Given the description of an element on the screen output the (x, y) to click on. 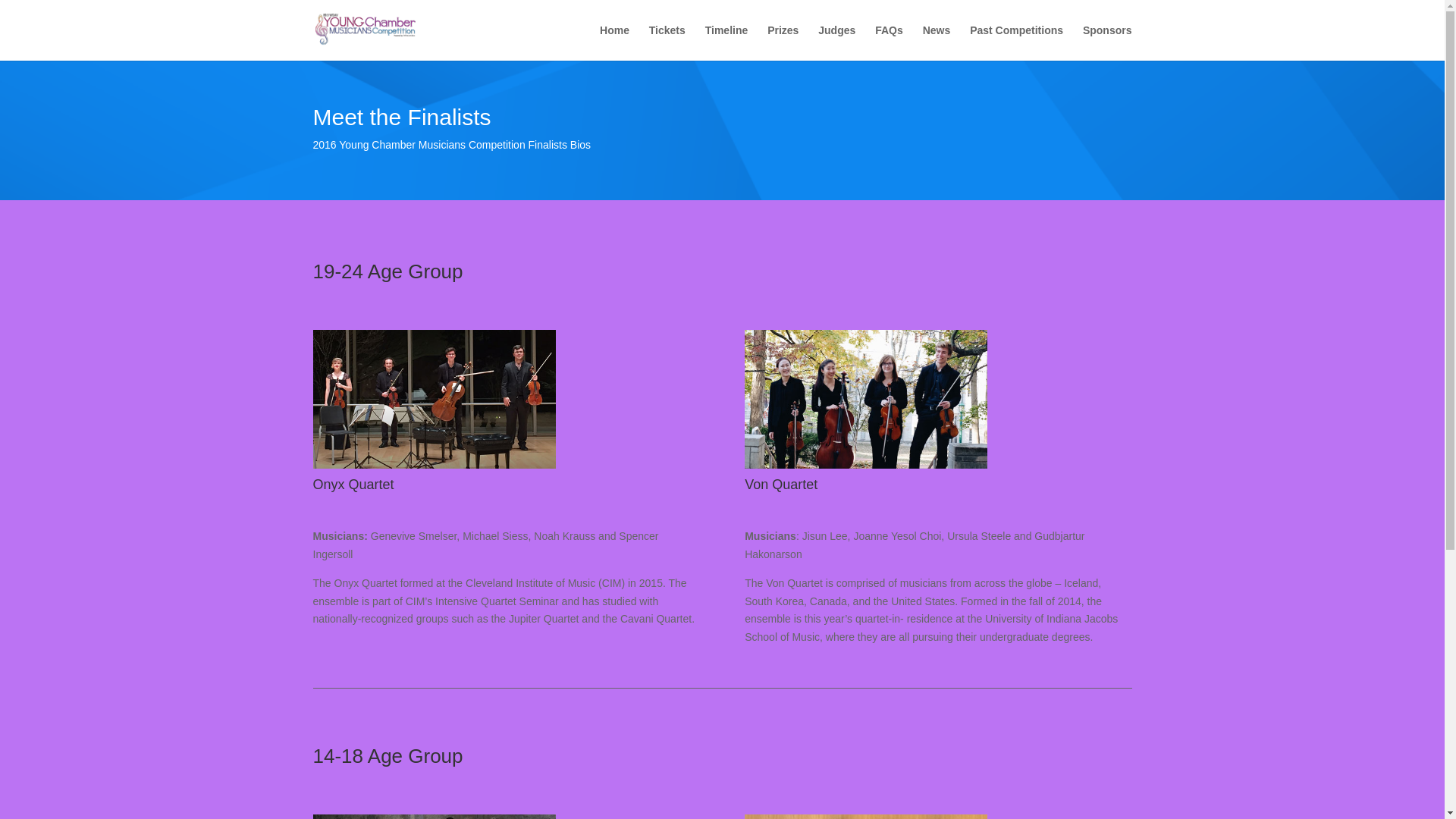
Past Competitions (1015, 42)
Tickets (667, 42)
Timeline (726, 42)
Sponsors (1107, 42)
Judges (837, 42)
